Given the description of an element on the screen output the (x, y) to click on. 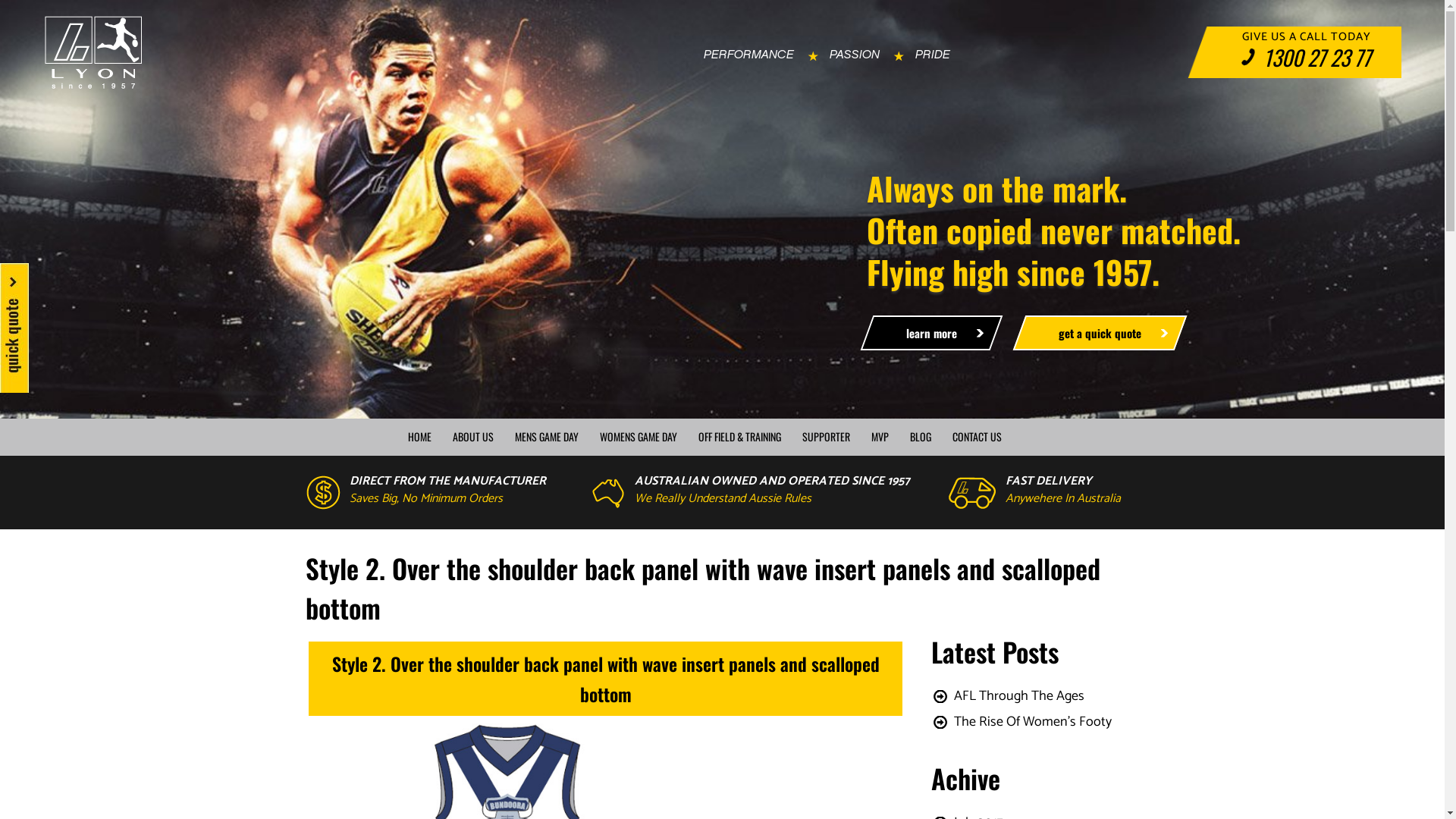
AFL Through The Ages Element type: text (1018, 695)
PRIDE Element type: text (932, 55)
PASSION Element type: text (854, 55)
SUPPORTER Element type: text (825, 435)
PERFORMANCE Element type: text (748, 55)
ABOUT US Element type: text (472, 435)
HOME Element type: text (419, 435)
WOMENS GAME DAY Element type: text (637, 435)
OFF FIELD & TRAINING Element type: text (738, 435)
1300 27 23 77 Element type: text (1305, 56)
BLOG Element type: text (920, 435)
MENS GAME DAY Element type: text (545, 435)
learn more Element type: text (931, 332)
Fmeaddons Element type: text (451, 743)
CONTACT US Element type: text (976, 435)
MVP Element type: text (878, 435)
